Given the description of an element on the screen output the (x, y) to click on. 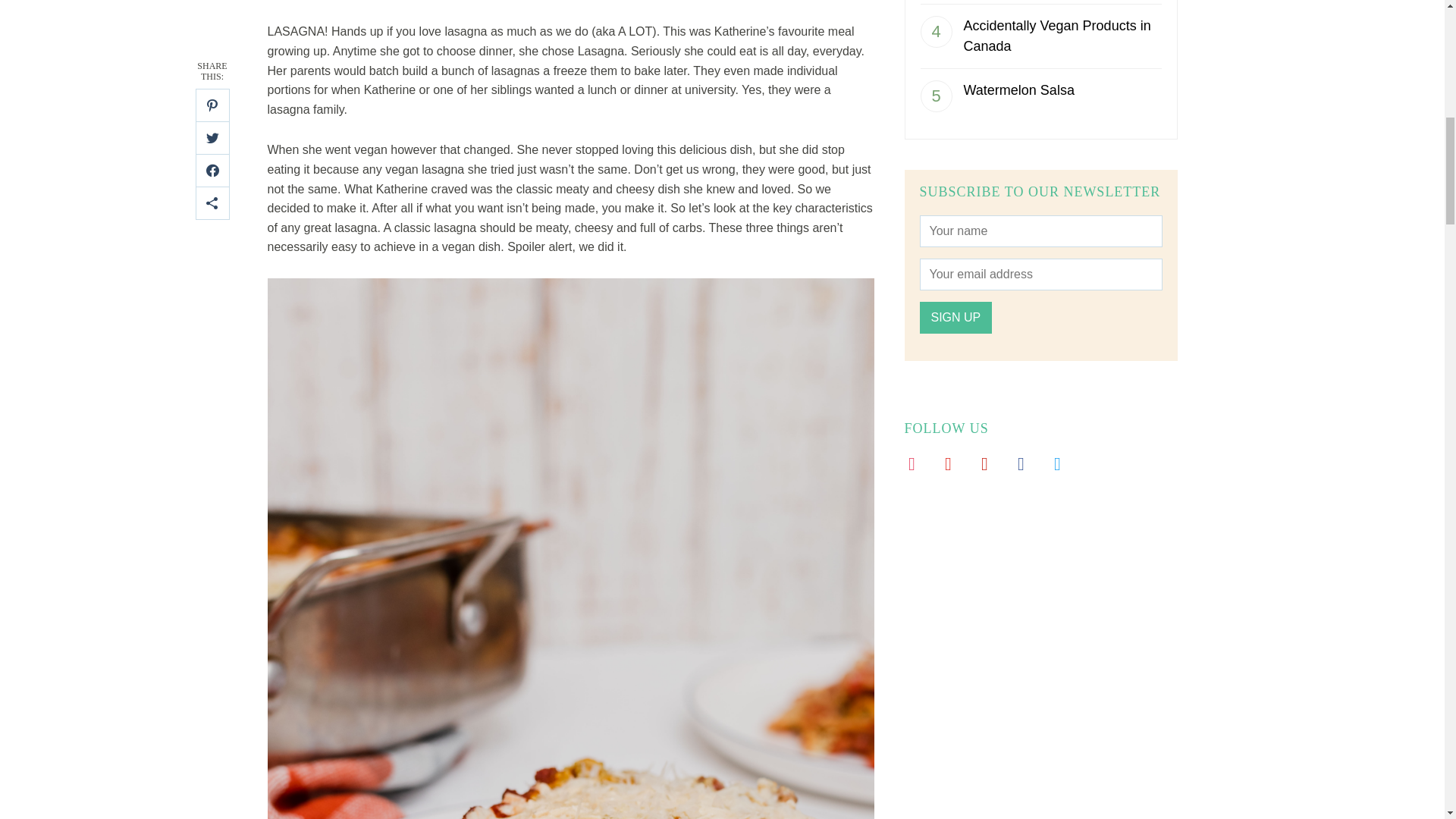
Sign up (954, 317)
